Given the description of an element on the screen output the (x, y) to click on. 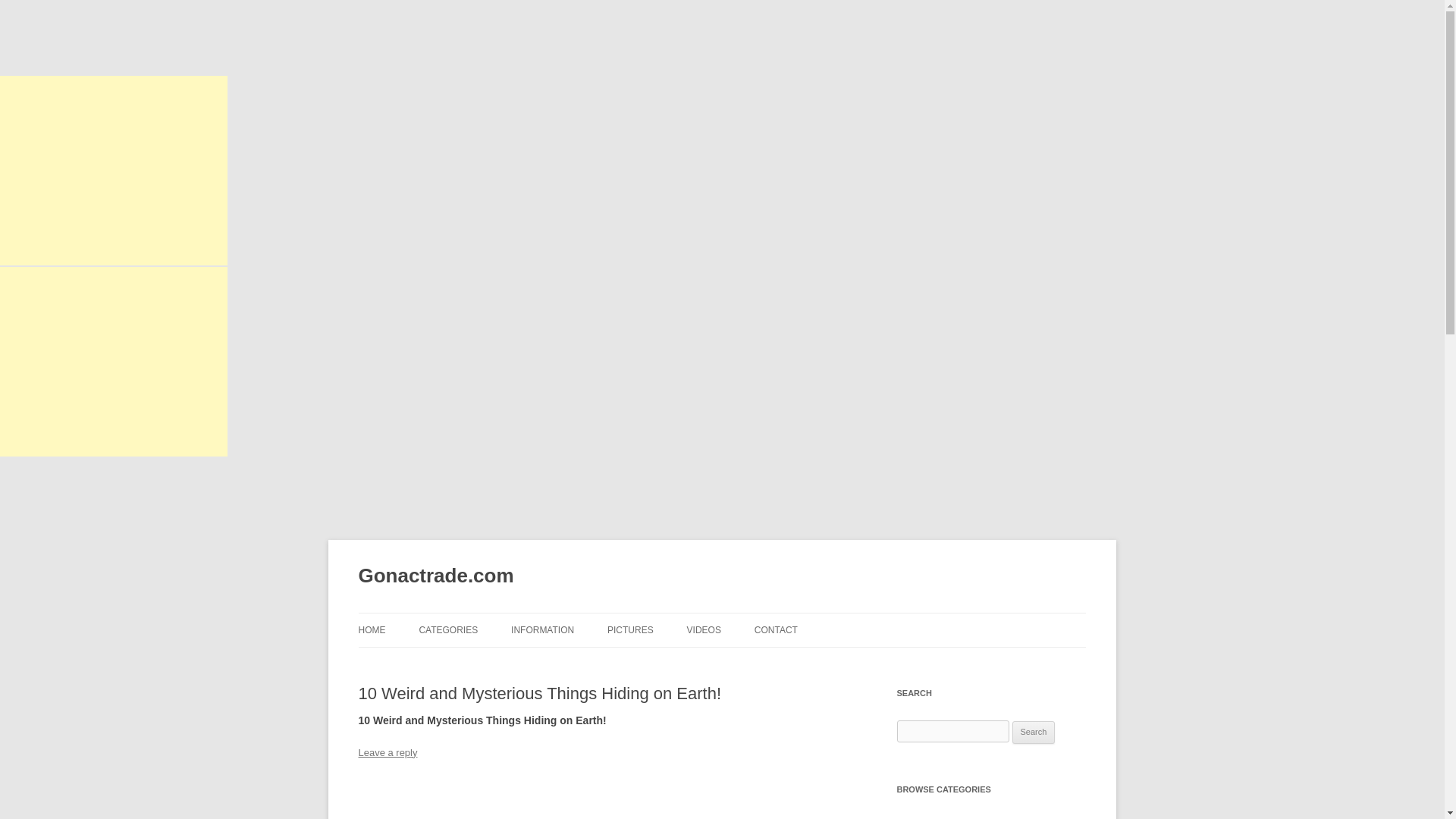
Search (1033, 732)
10 Weird and Mysterious Things Hiding on Earth! (594, 799)
INFORMATION (542, 630)
Advertisement (113, 170)
PICTURES (630, 630)
Leave a reply (387, 752)
VIDEOS (703, 630)
Advertisement (113, 361)
